Given the description of an element on the screen output the (x, y) to click on. 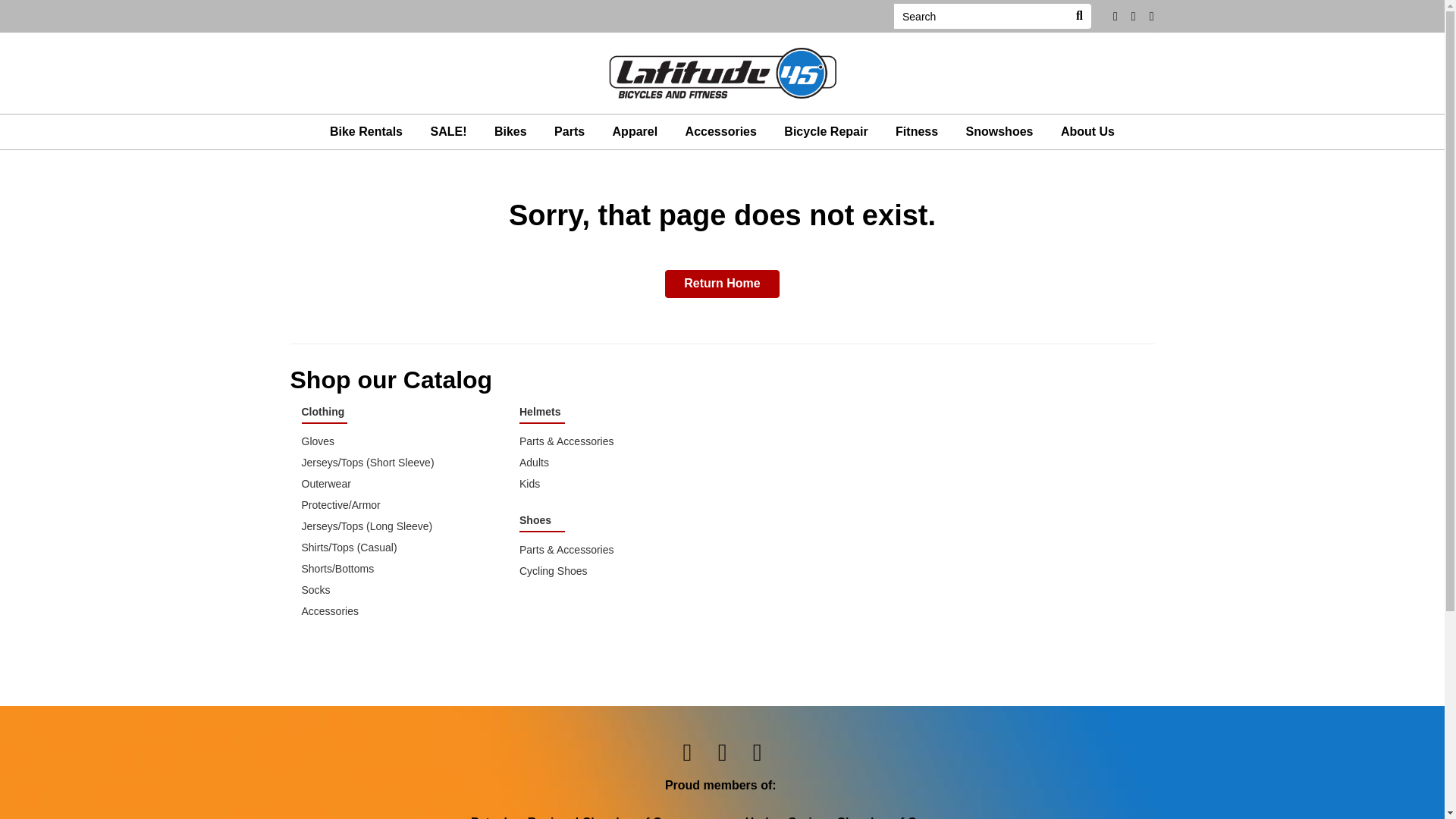
Search (980, 16)
Bike Rentals (365, 131)
Bikes (510, 131)
Search (1078, 16)
Return Home (721, 284)
Latitude 45 Home Page (721, 72)
SALE! (448, 131)
